Given the description of an element on the screen output the (x, y) to click on. 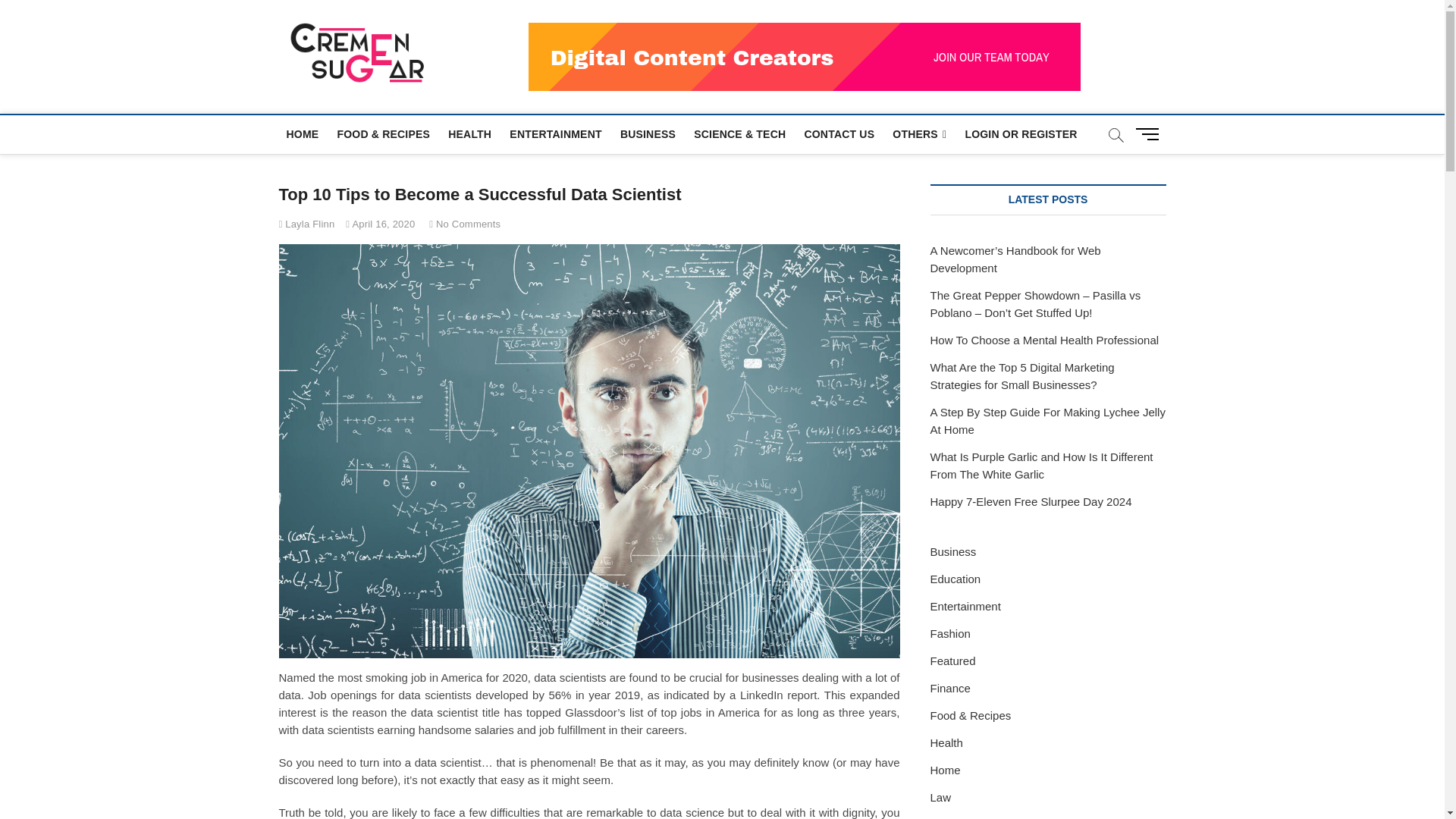
Menu Button (1150, 133)
CremeNsugar (520, 50)
ENTERTAINMENT (555, 134)
HOME (302, 134)
April 16, 2020 (380, 224)
BUSINESS (647, 134)
LOGIN OR REGISTER (1020, 134)
CONTACT US (839, 134)
CremeNsugar (520, 50)
Top 10 Tips to Become a Successful Data Scientist (306, 224)
OTHERS (919, 134)
HEALTH (470, 134)
